Given the description of an element on the screen output the (x, y) to click on. 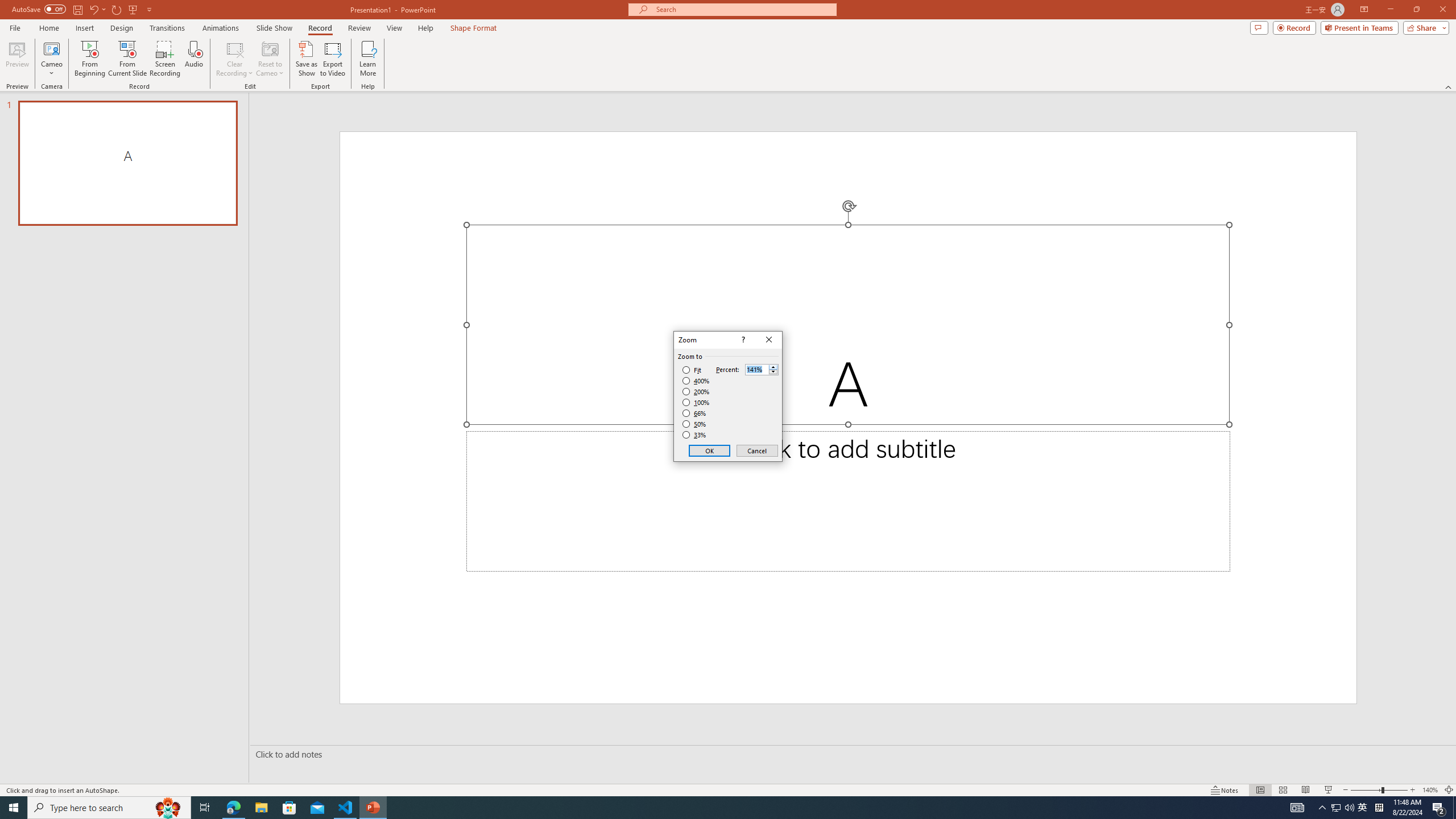
Screen Recording (165, 58)
From Beginning... (89, 58)
Fit (691, 370)
Action Center, 2 new notifications (1439, 807)
